Given the description of an element on the screen output the (x, y) to click on. 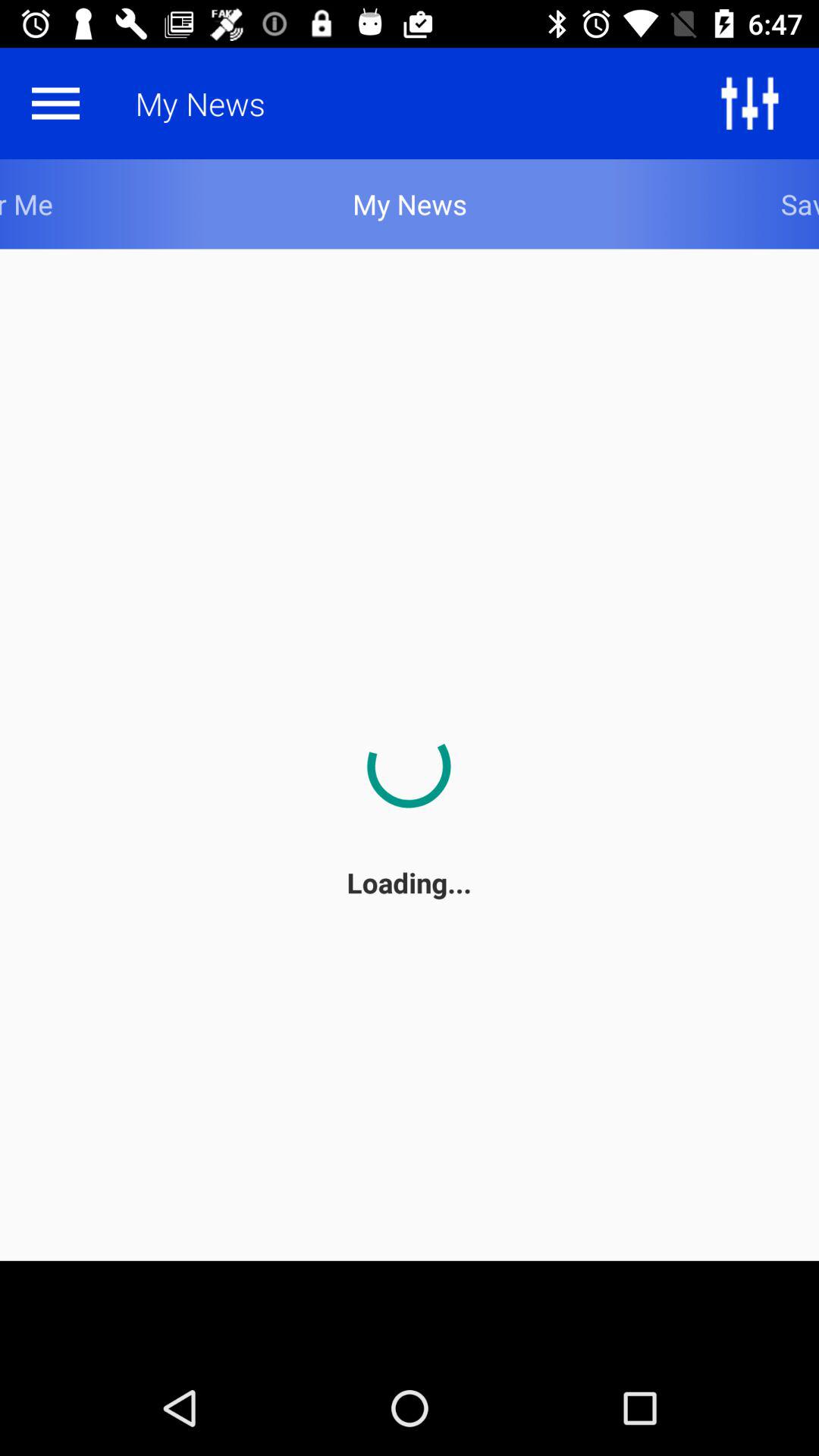
home (55, 103)
